Given the description of an element on the screen output the (x, y) to click on. 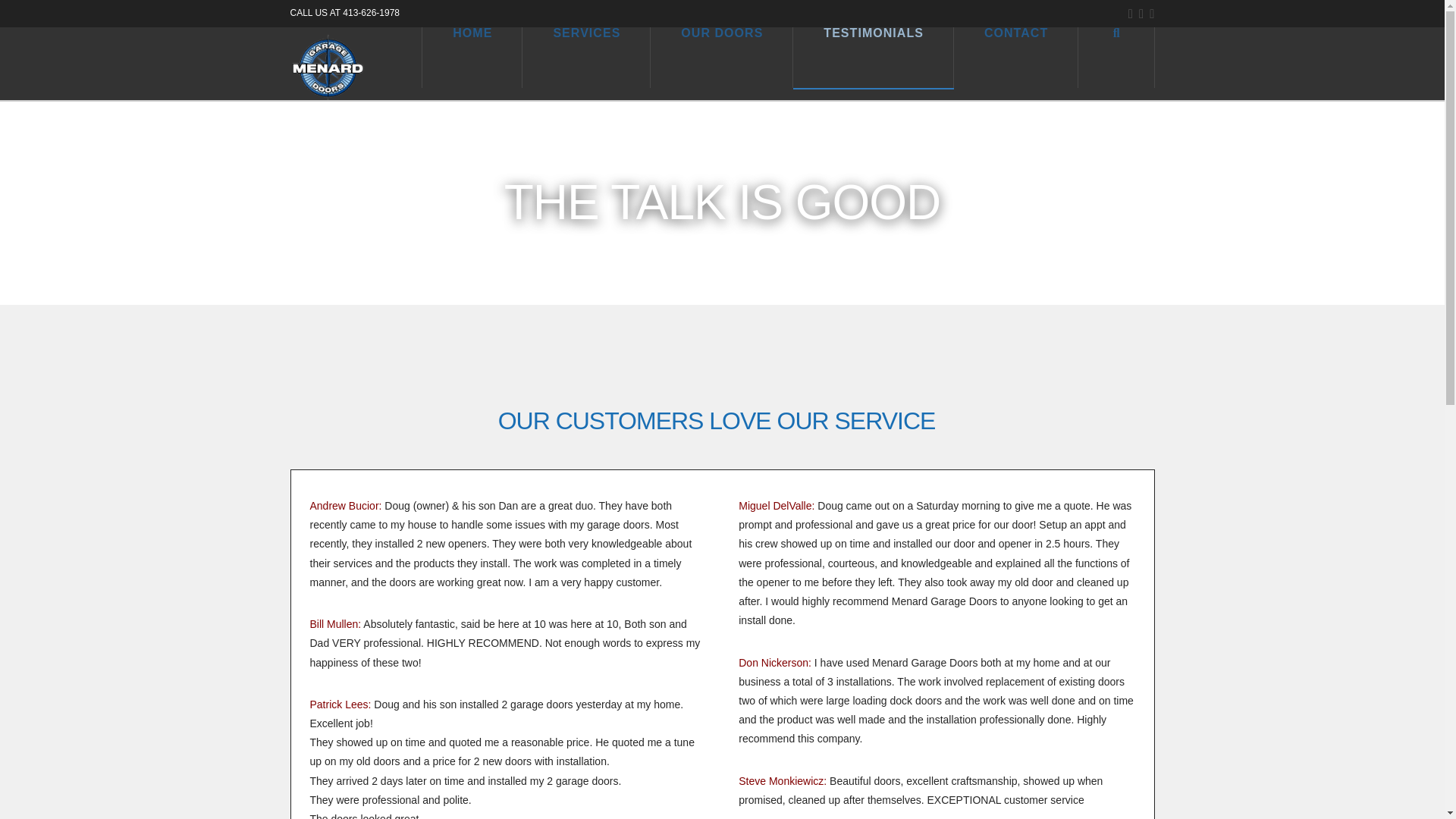
CALL US AT 413-626-1978 (343, 12)
HOME (472, 57)
CONTACT (1015, 57)
OUR DOORS (721, 57)
TESTIMONIALS (873, 57)
SERVICES (586, 57)
